Given the description of an element on the screen output the (x, y) to click on. 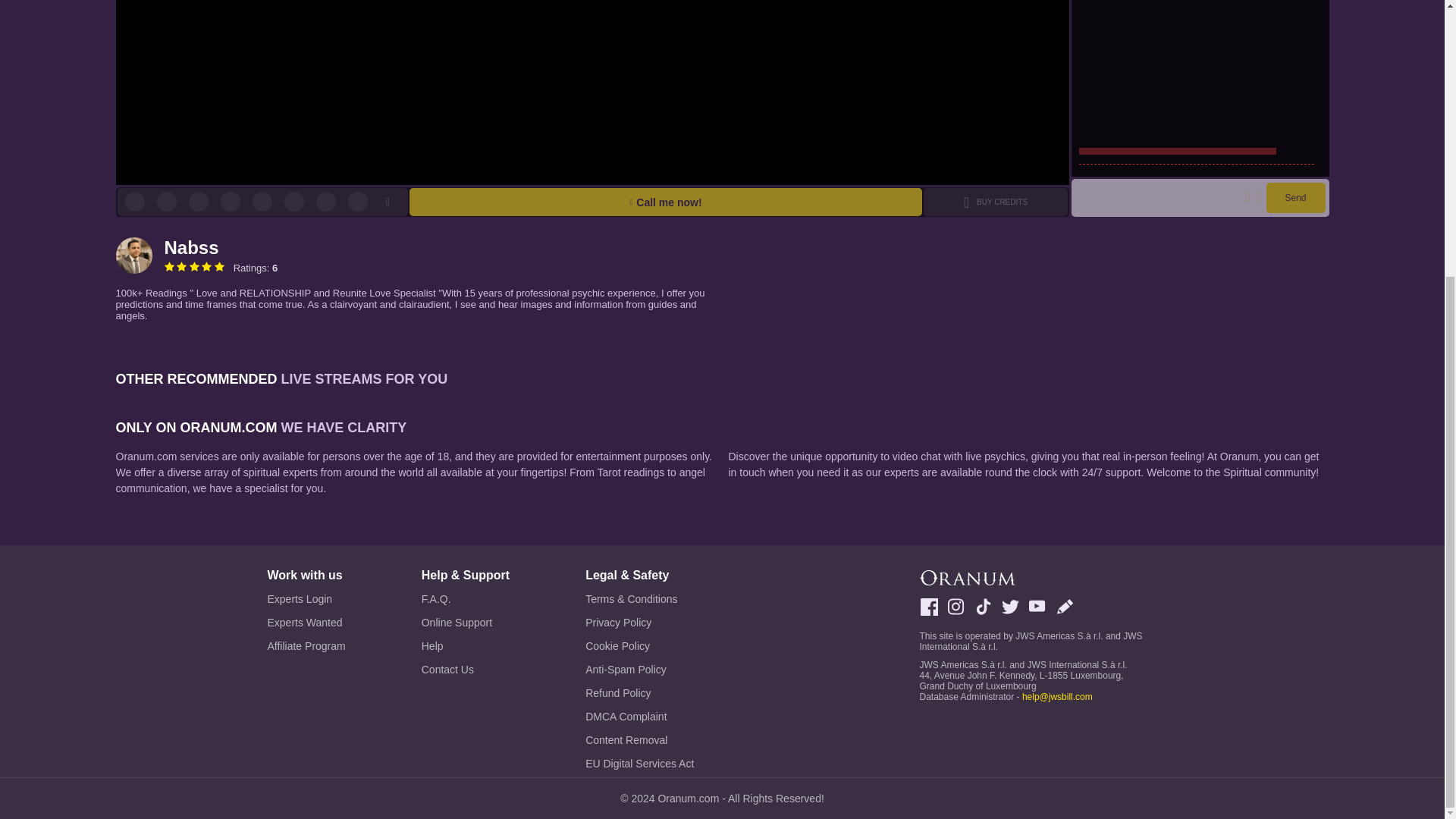
Experts Login (305, 598)
Affiliate Program (305, 646)
F.A.Q. (465, 598)
Online Support (465, 622)
Cookie Policy (639, 646)
Anti-Spam Policy (639, 669)
DMCA Complaint (639, 716)
Privacy Policy (639, 622)
Experts Wanted (305, 622)
Content Removal (639, 740)
Contact Us (465, 669)
EU Digital Services Act (639, 763)
Refund Policy (639, 692)
Help (465, 646)
